Given the description of an element on the screen output the (x, y) to click on. 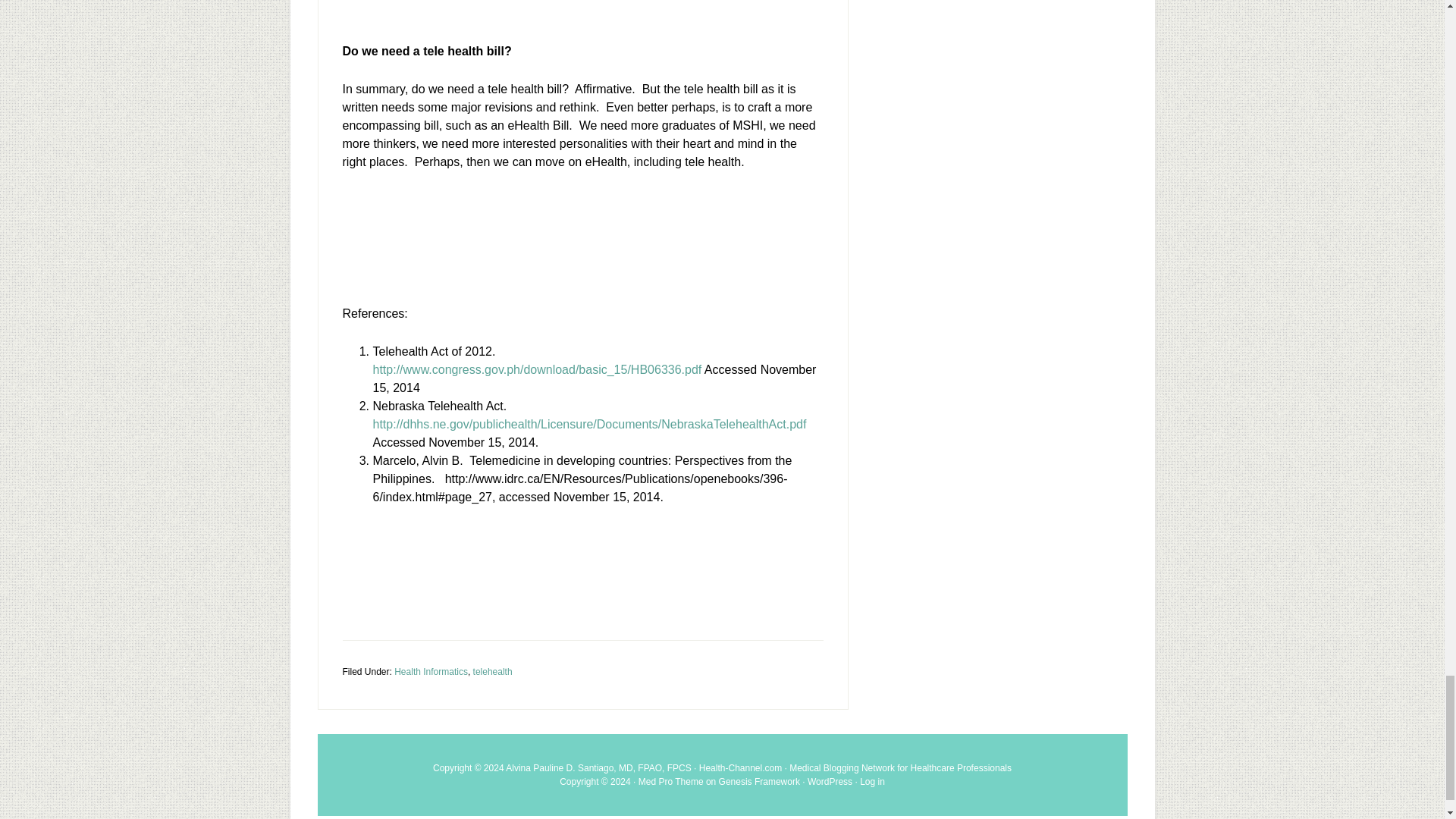
telehealth (492, 671)
Genesis Framework (759, 781)
WordPress (829, 781)
Health-Channel.com (739, 767)
Med Pro Theme (671, 781)
Health Informatics (430, 671)
